Given the description of an element on the screen output the (x, y) to click on. 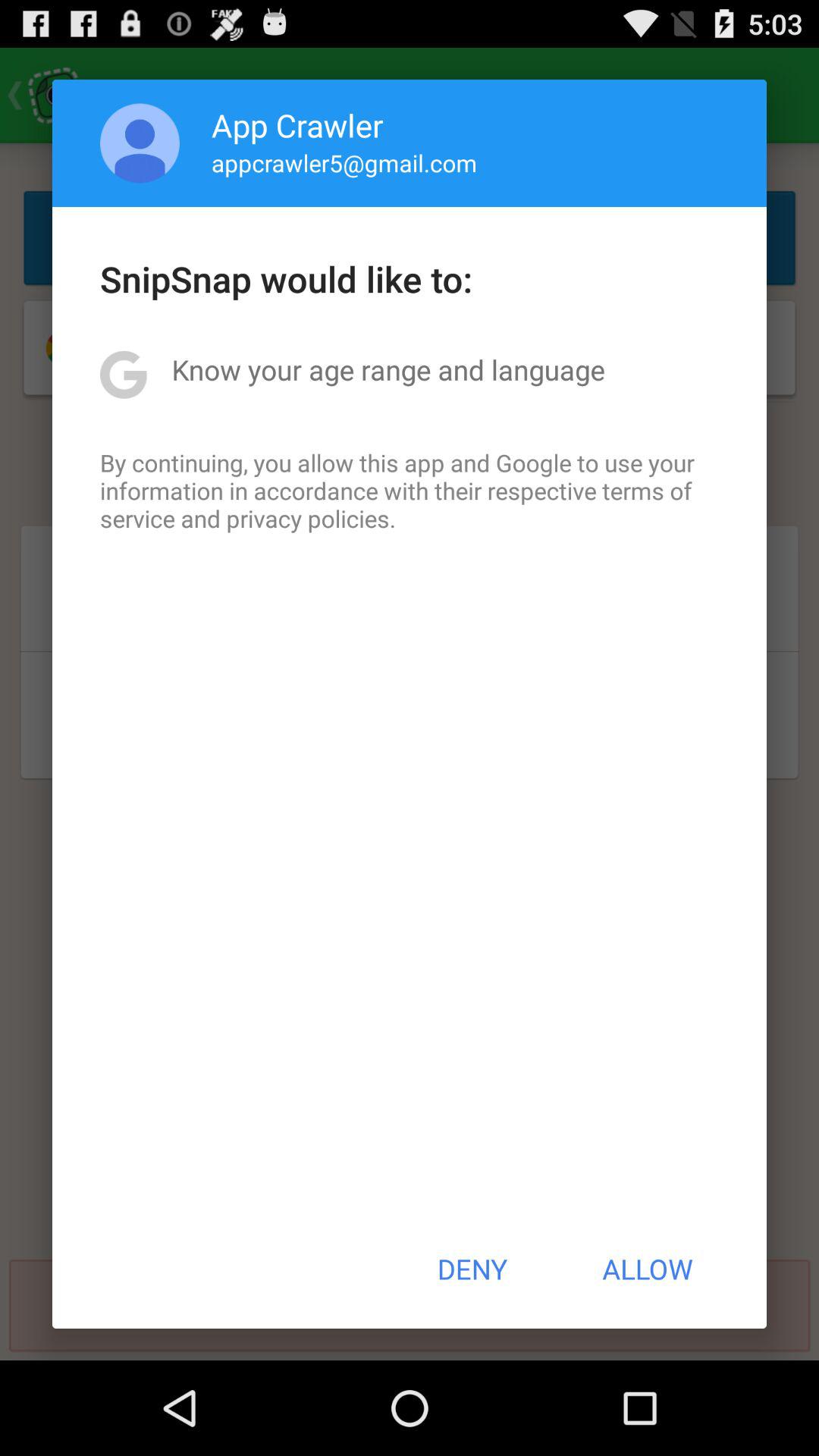
launch the app crawler icon (297, 124)
